Given the description of an element on the screen output the (x, y) to click on. 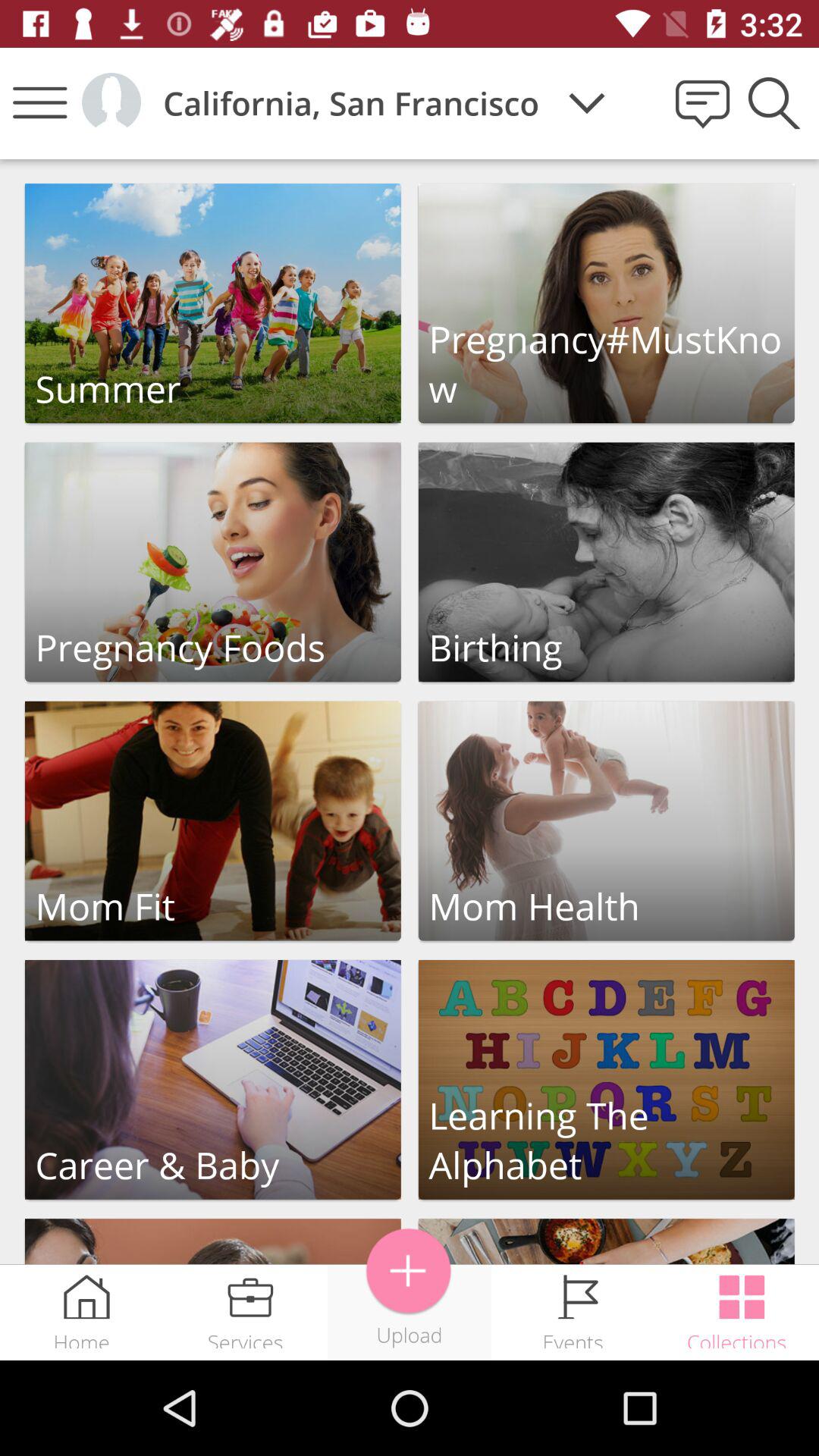
click for categories (606, 303)
